Given the description of an element on the screen output the (x, y) to click on. 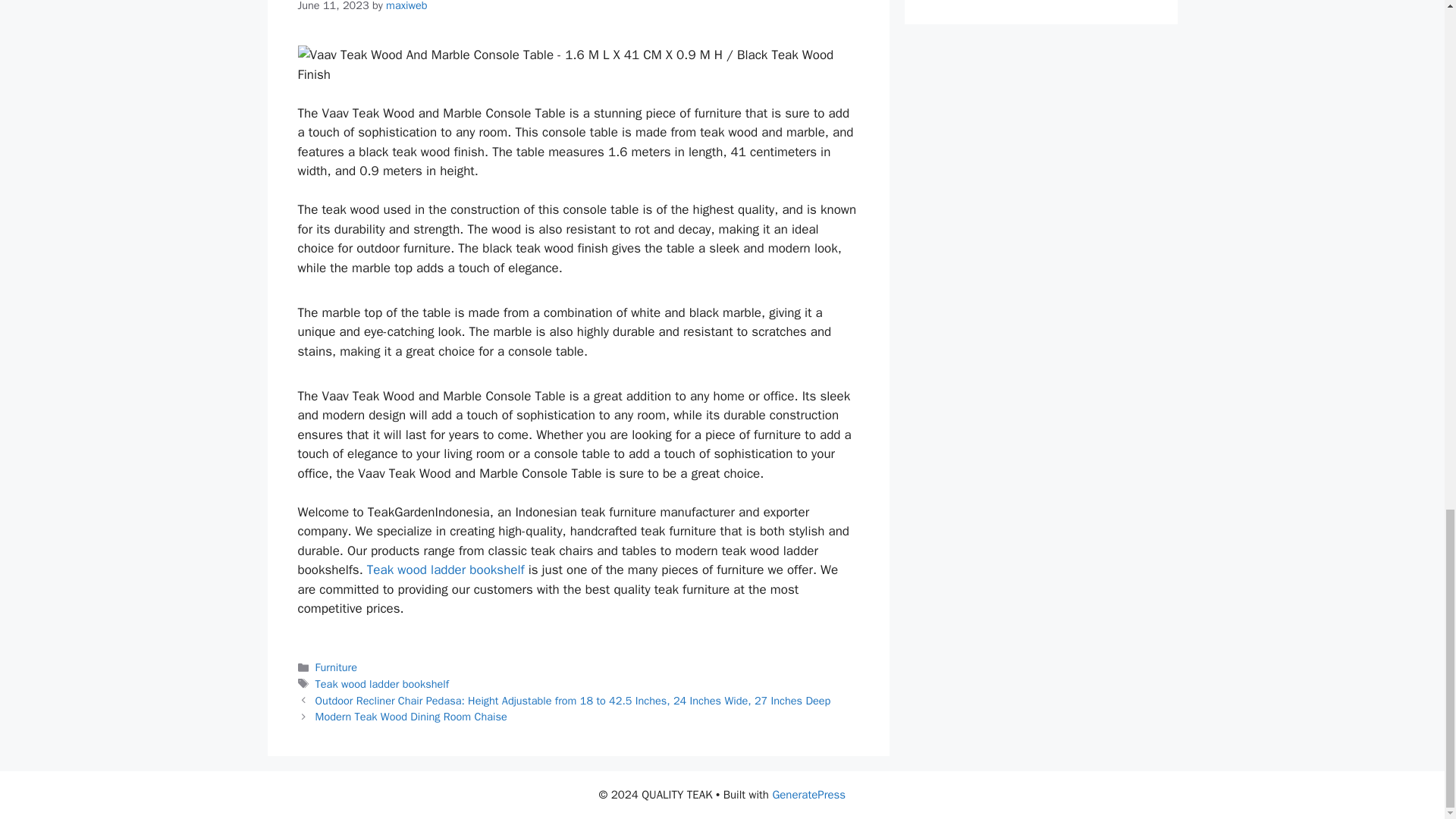
GeneratePress (808, 794)
Teak wood ladder bookshelf (381, 684)
Furniture (335, 667)
View all posts by maxiweb (406, 6)
Teak wood ladder bookshelf (445, 569)
maxiweb (406, 6)
Modern Teak Wood Dining Room Chaise (410, 716)
